Given the description of an element on the screen output the (x, y) to click on. 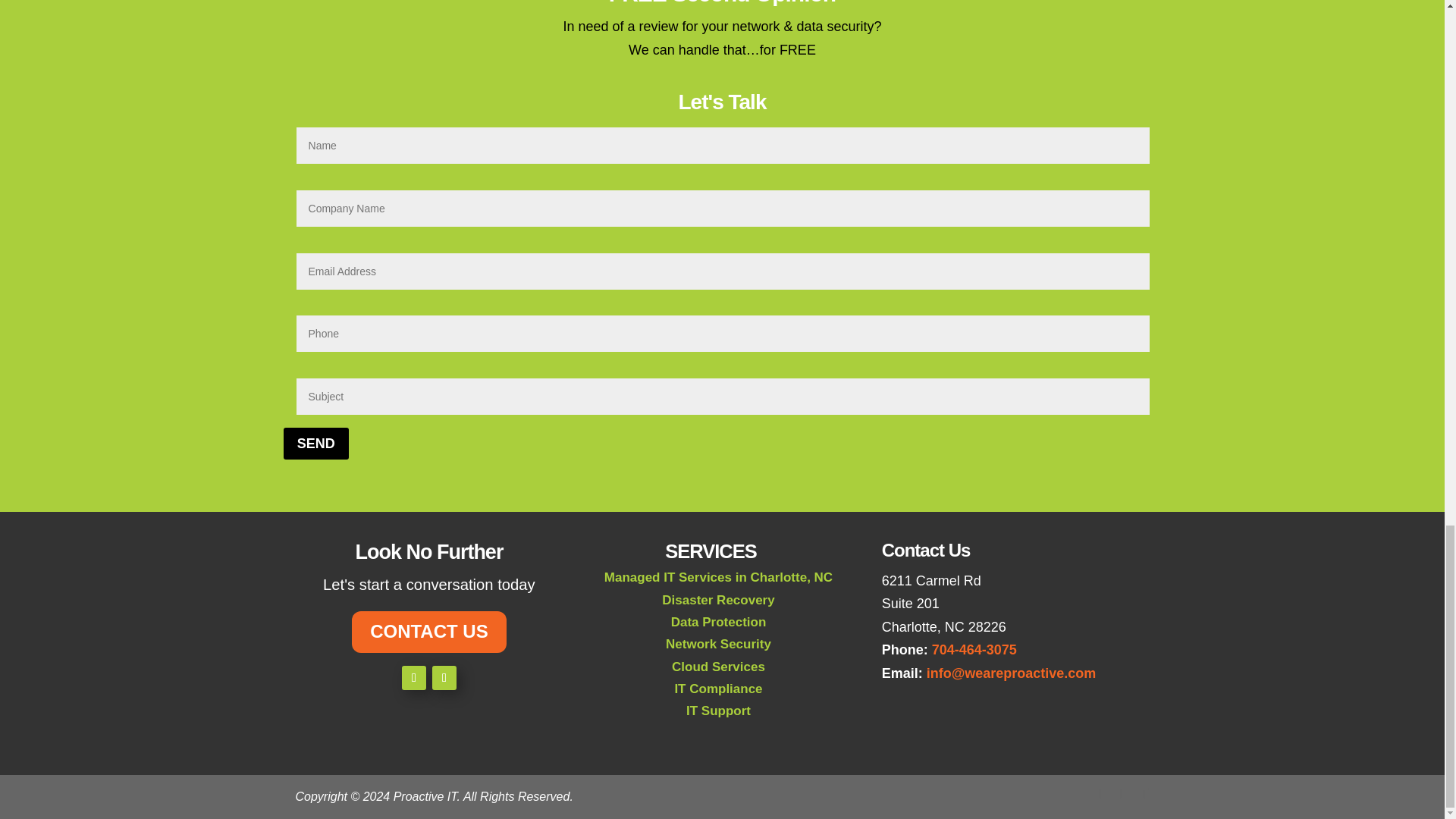
Follow on LinkedIn (444, 677)
Follow on Facebook (413, 677)
